Given the description of an element on the screen output the (x, y) to click on. 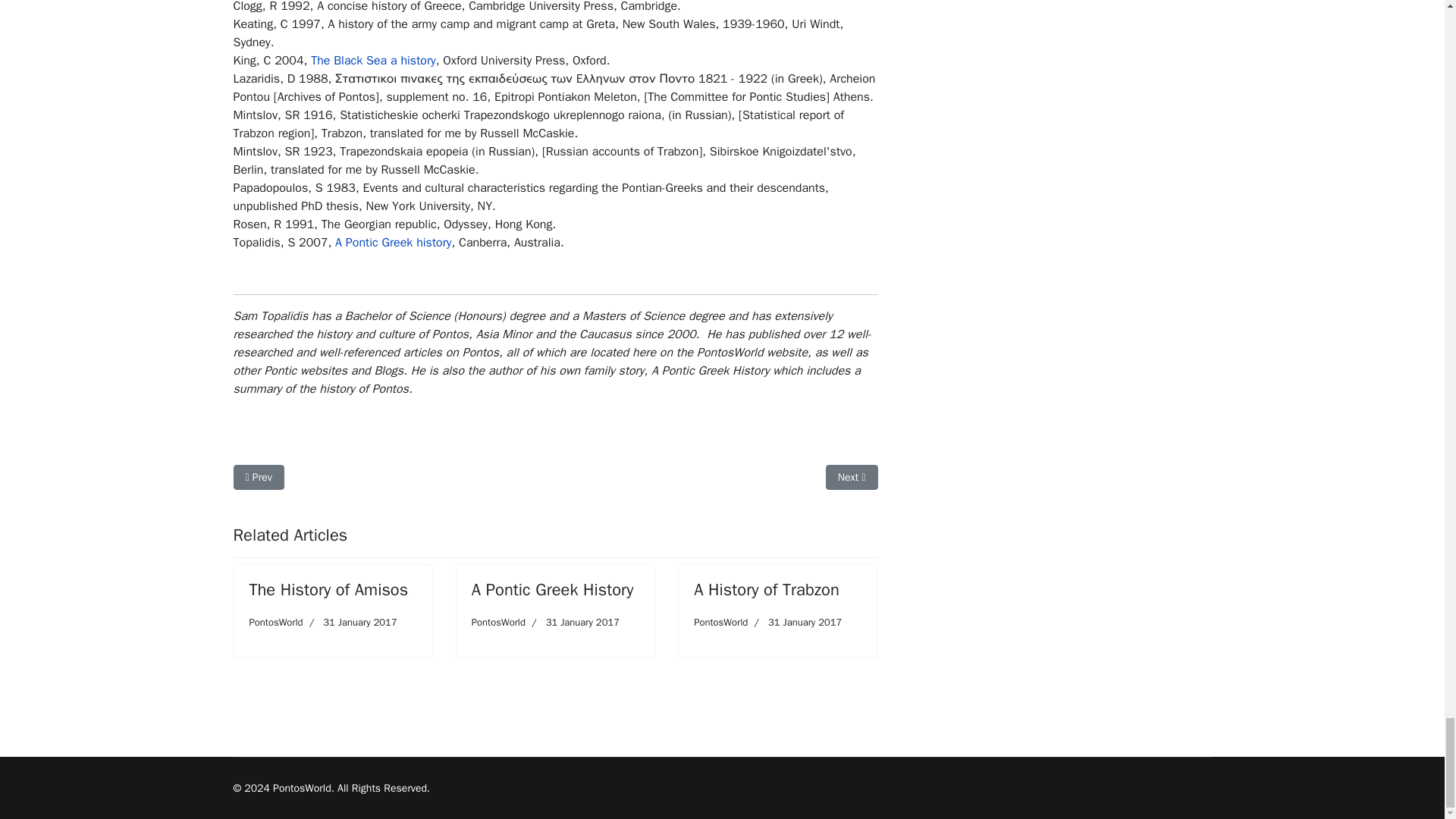
Written by: PontosWorld (275, 622)
Published: 31 January 2017 (349, 622)
Written by: PontosWorld (498, 622)
